Given the description of an element on the screen output the (x, y) to click on. 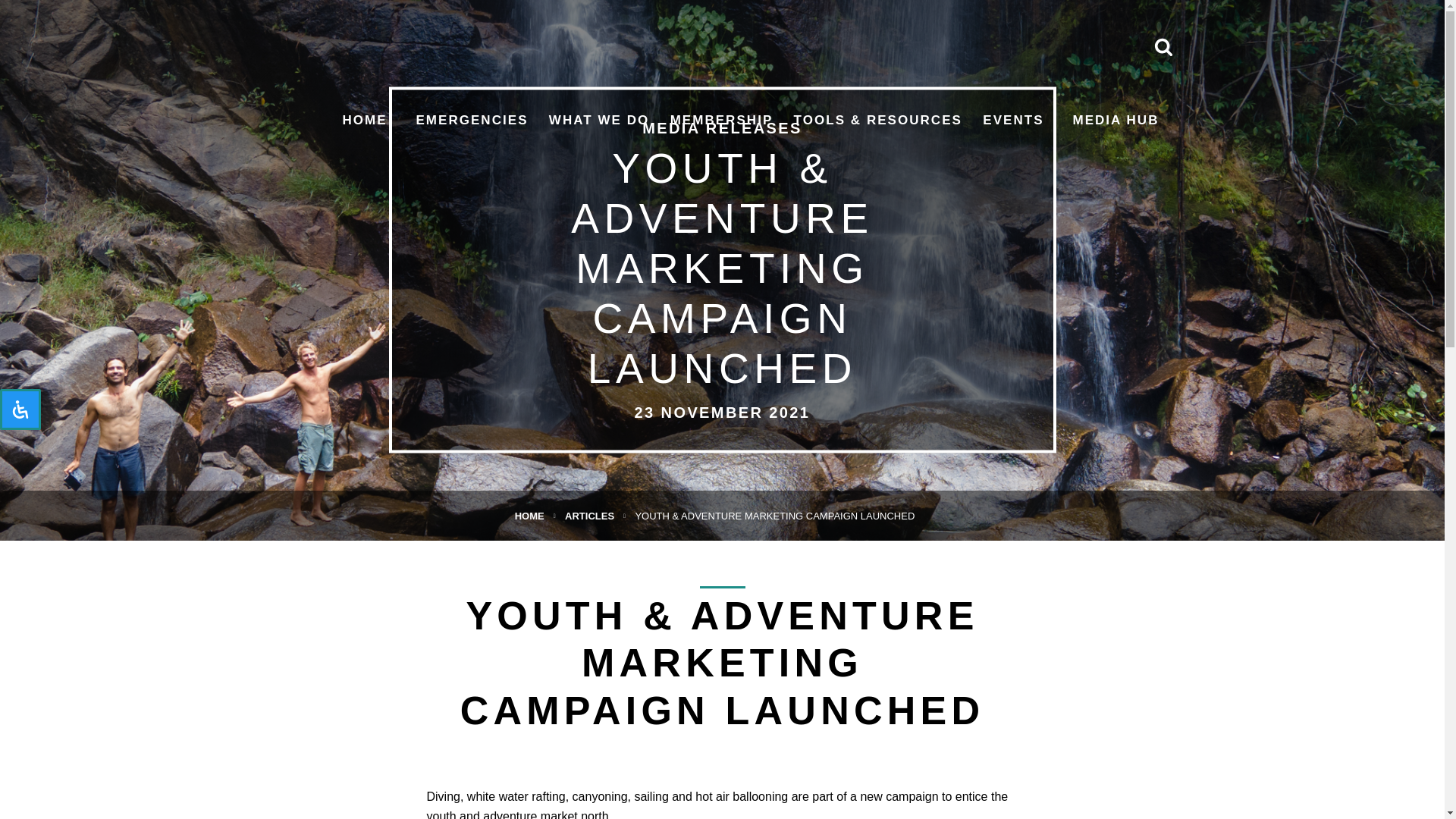
WHAT WE DO (598, 120)
HOME (364, 120)
EVENTS (1012, 120)
Accessibility (20, 409)
EMERGENCIES (470, 120)
MEDIA HUB (1114, 120)
MEMBERSHIP (721, 120)
